Given the description of an element on the screen output the (x, y) to click on. 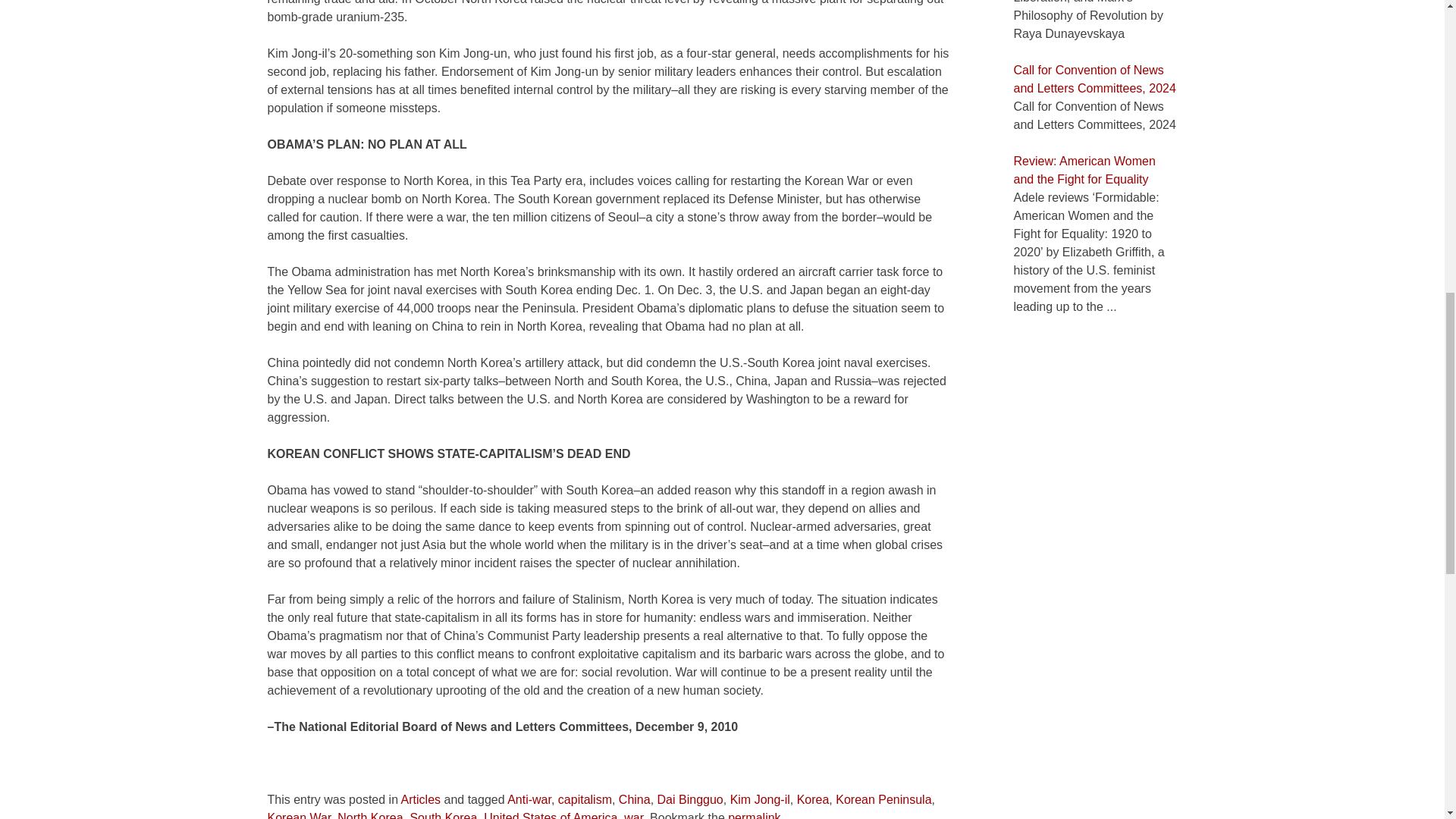
Anti-war (528, 799)
Articles (421, 799)
China (634, 799)
Review: American Women and the Fight for Equality (1083, 169)
United States of America (550, 815)
Dai Bingguo (690, 799)
war (633, 815)
capitalism (584, 799)
Kim Jong-il (760, 799)
North Korea (370, 815)
